Given the description of an element on the screen output the (x, y) to click on. 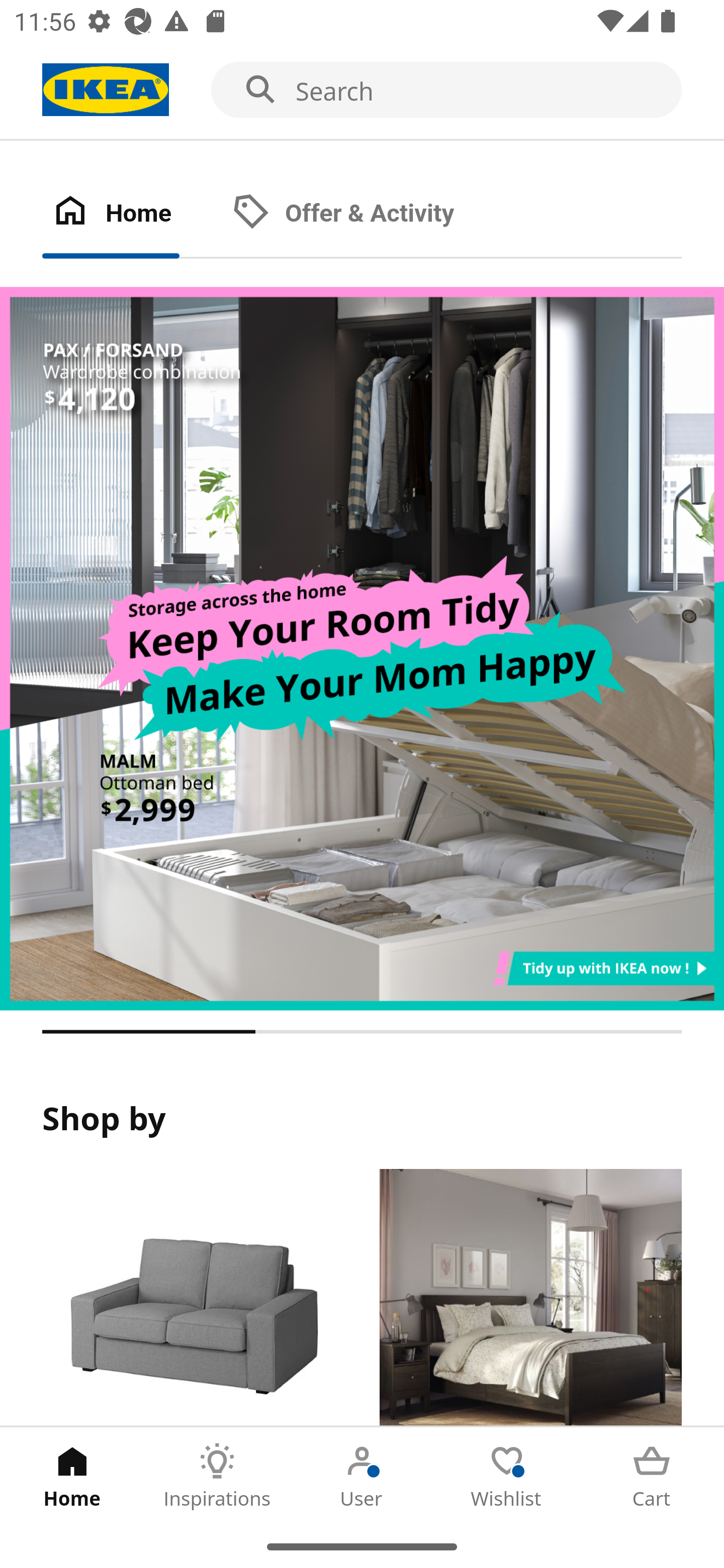
Search (361, 90)
Home
Tab 1 of 2 (131, 213)
Offer & Activity
Tab 2 of 2 (363, 213)
Products (192, 1297)
Rooms (530, 1297)
Home
Tab 1 of 5 (72, 1476)
Inspirations
Tab 2 of 5 (216, 1476)
User
Tab 3 of 5 (361, 1476)
Wishlist
Tab 4 of 5 (506, 1476)
Cart
Tab 5 of 5 (651, 1476)
